Given the description of an element on the screen output the (x, y) to click on. 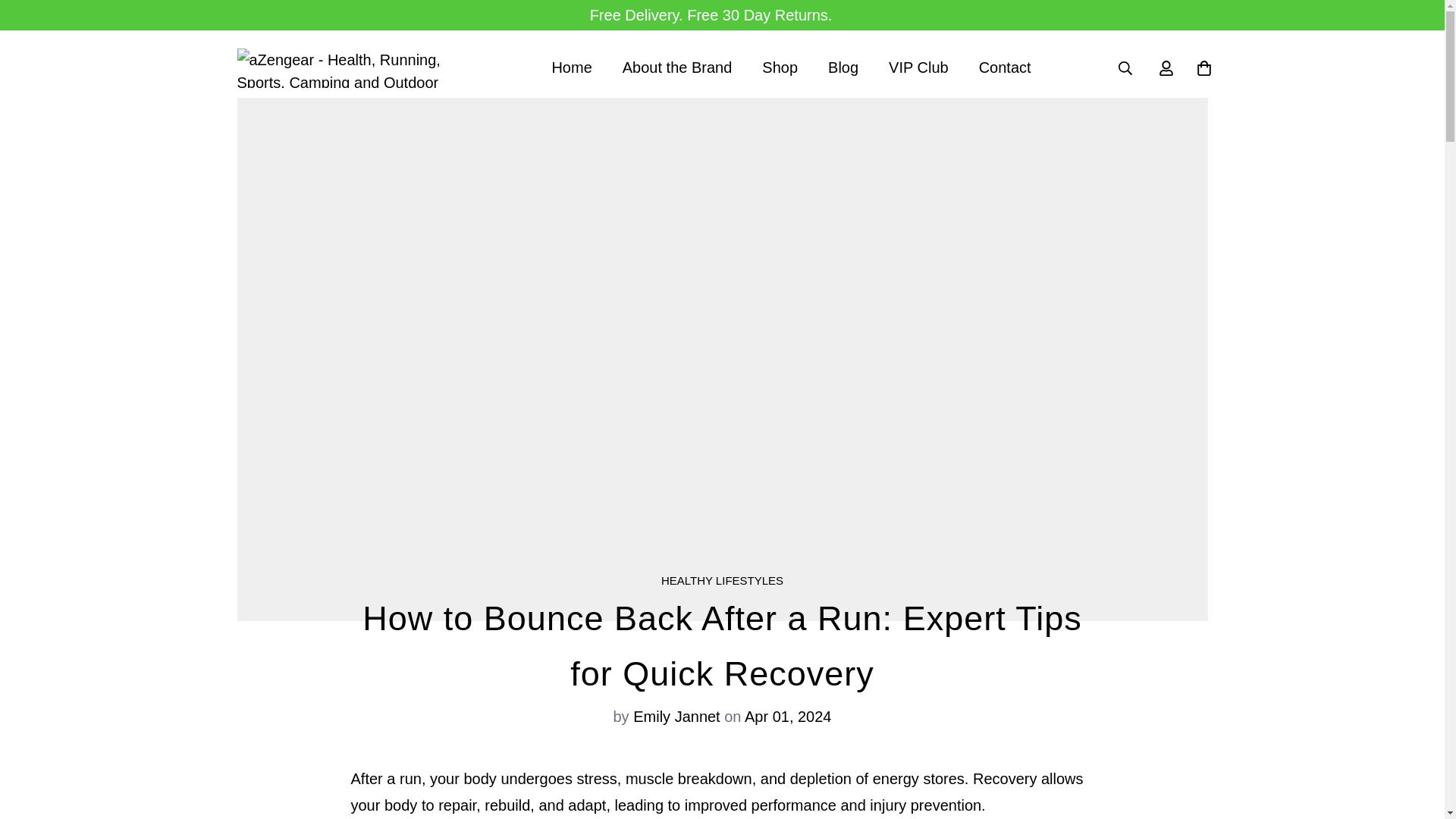
Shop (779, 67)
VIP Club (790, 67)
Blog (918, 67)
aZengear (842, 67)
HEALTHY LIFESTYLES (349, 67)
Contact (722, 580)
Home (1004, 67)
About the Brand (571, 67)
